Given the description of an element on the screen output the (x, y) to click on. 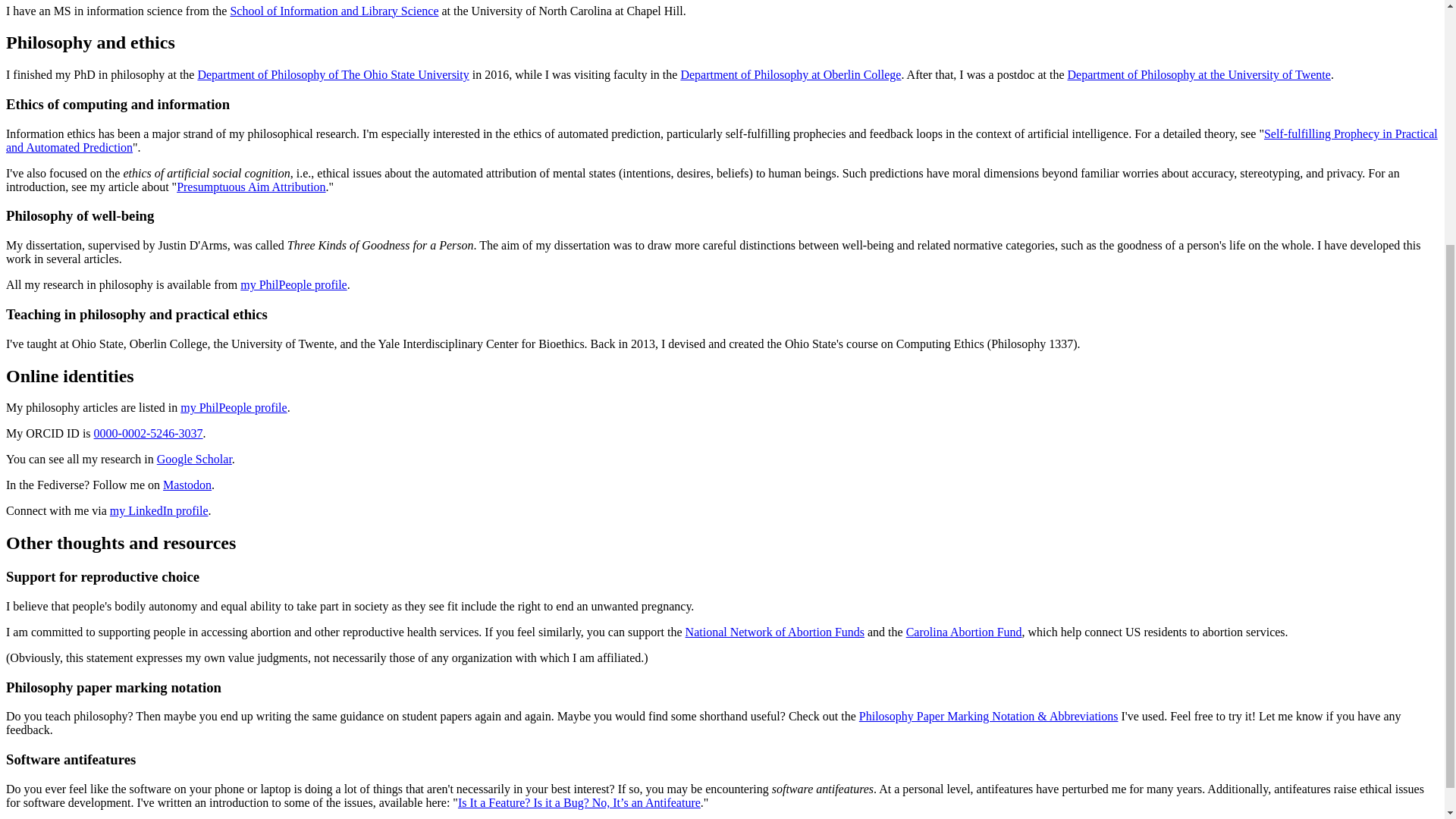
Department of Philosophy of The Ohio State University (332, 74)
Department of Philosophy at the University of Twente (1198, 74)
my LinkedIn profile (159, 510)
School of Information and Library Science (334, 10)
0000-0002-5246-3037 (148, 432)
Google Scholar (194, 459)
my PhilPeople profile (233, 407)
Mastodon (187, 484)
Department of Philosophy at Oberlin College (790, 74)
Presumptuous Aim Attribution (250, 186)
